Given the description of an element on the screen output the (x, y) to click on. 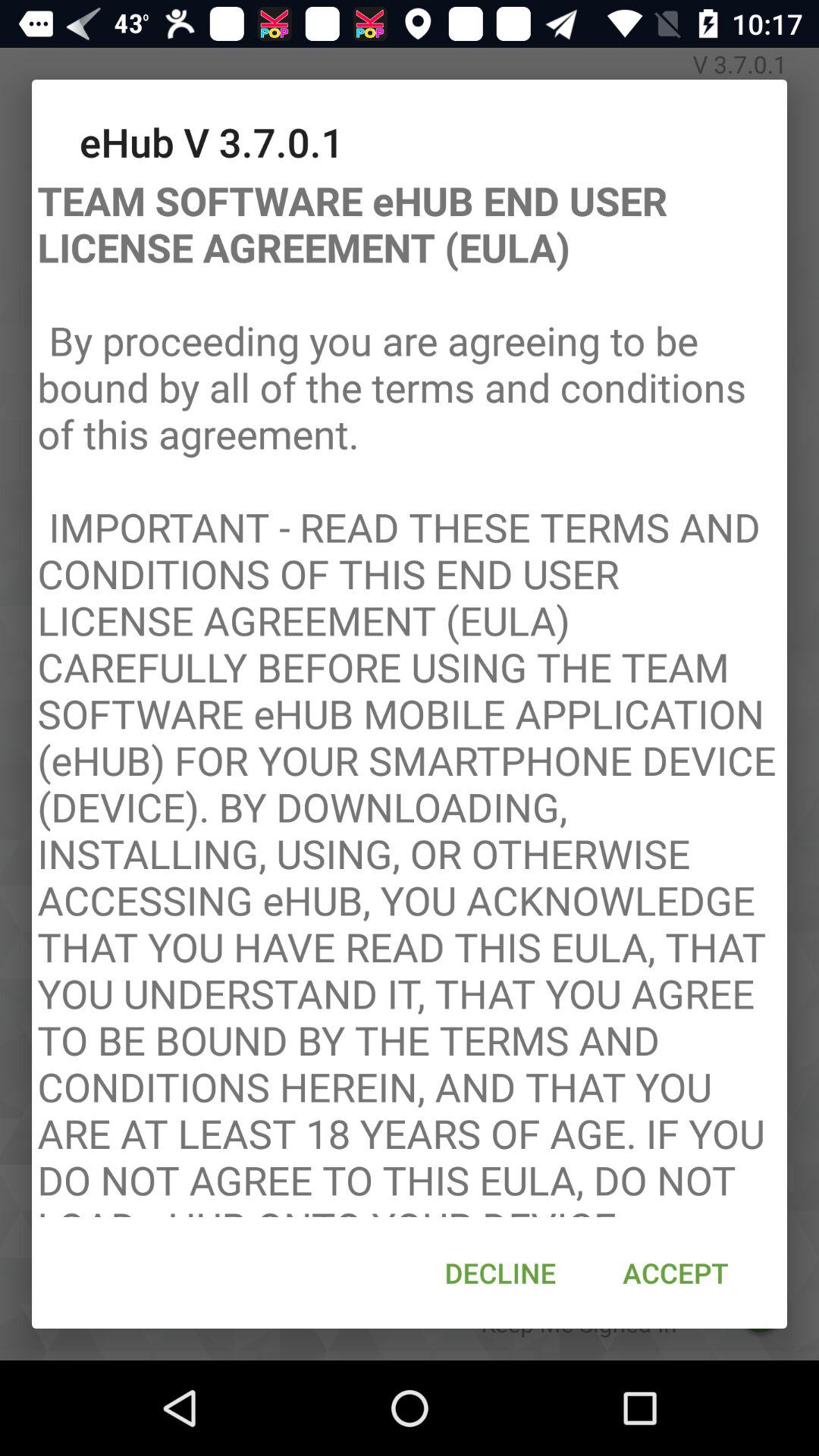
tap item next to the accept (500, 1272)
